Given the description of an element on the screen output the (x, y) to click on. 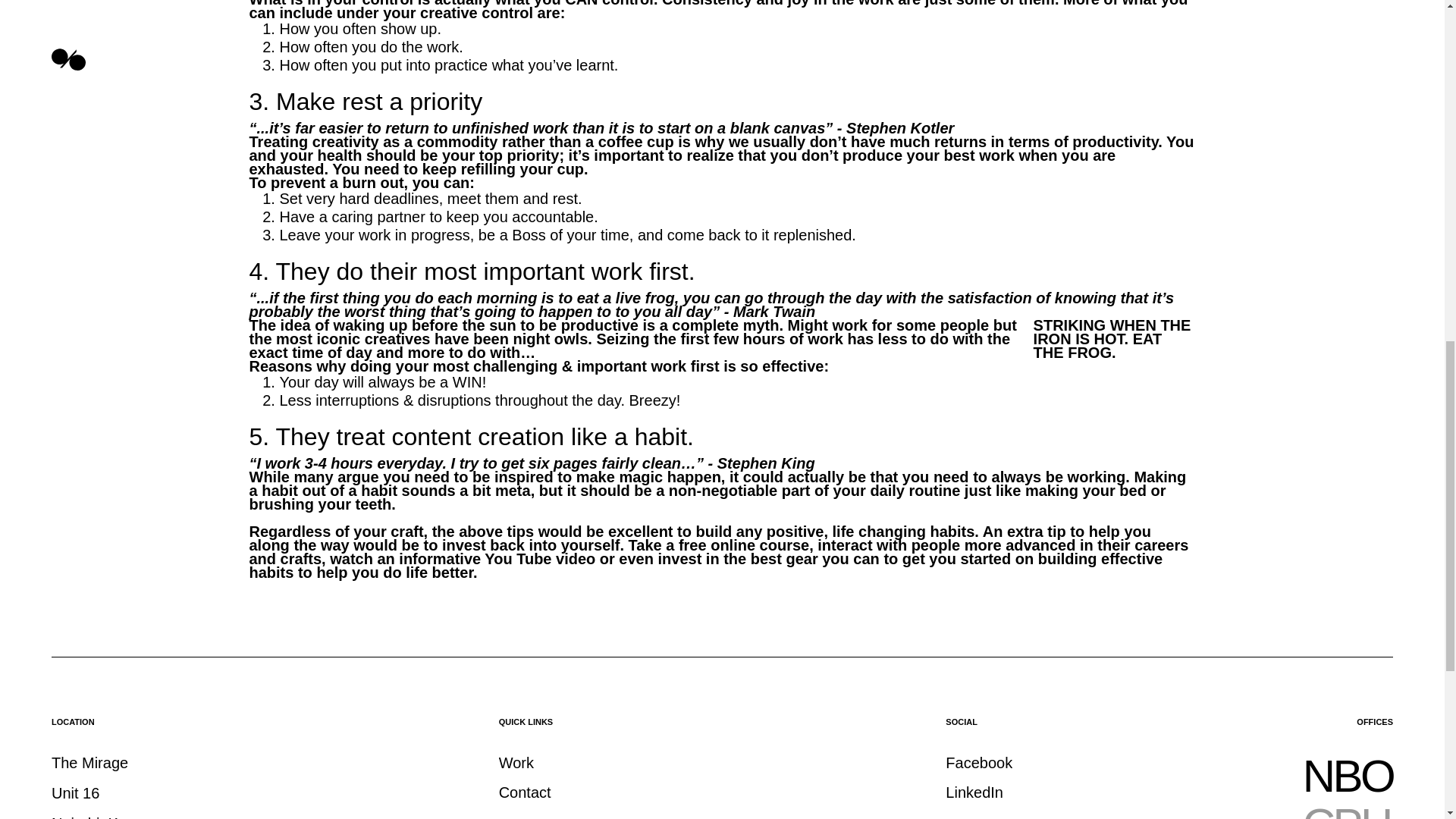
Work (516, 765)
LinkedIn (973, 795)
Facebook (977, 765)
Contact (525, 795)
